Given the description of an element on the screen output the (x, y) to click on. 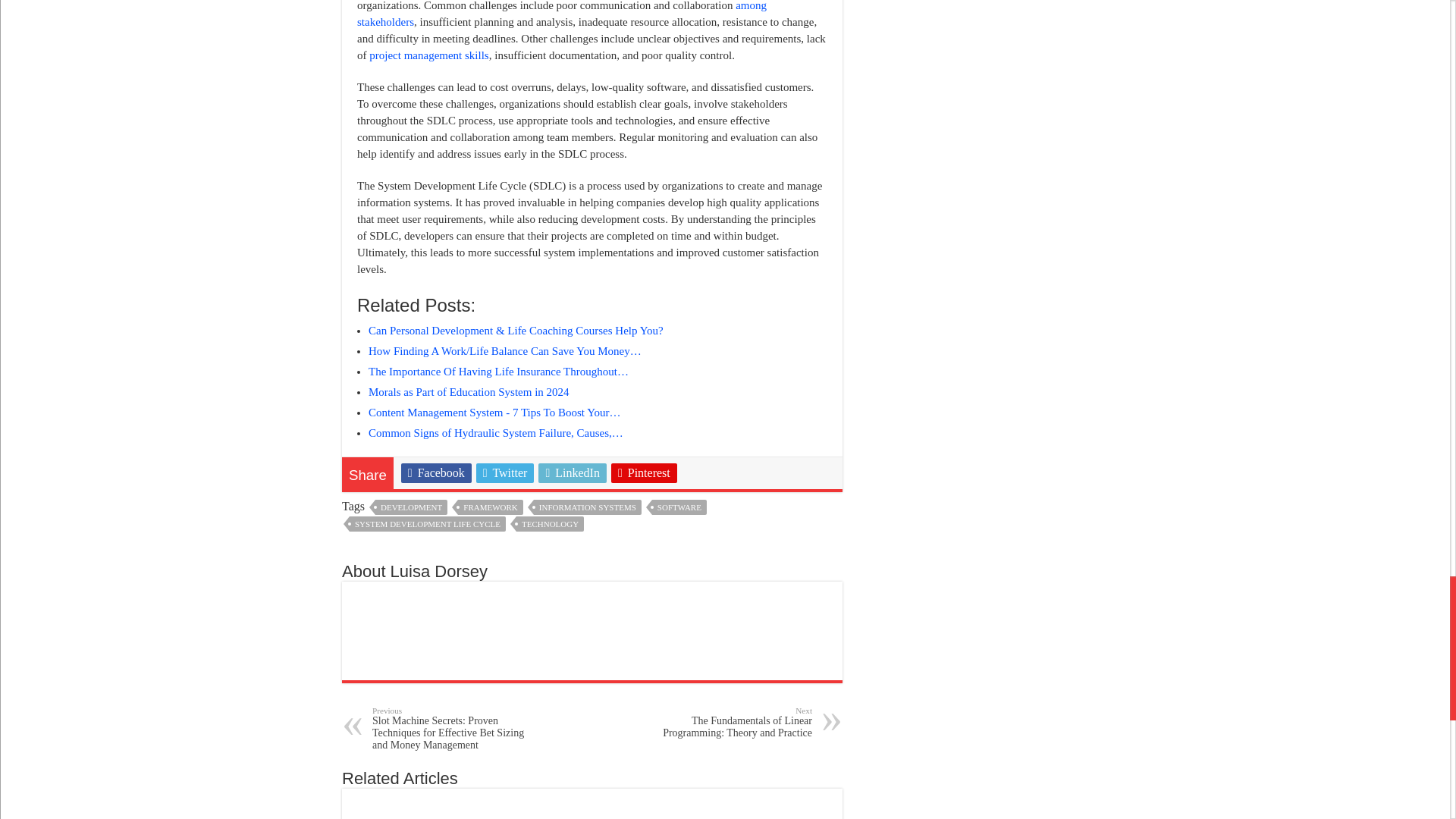
Facebook (436, 509)
project management skills (428, 91)
among stakeholders (561, 50)
Twitter (505, 509)
LinkedIn (572, 509)
Pinterest (644, 509)
Morals as Part of Education System in 2024 (468, 428)
